Given the description of an element on the screen output the (x, y) to click on. 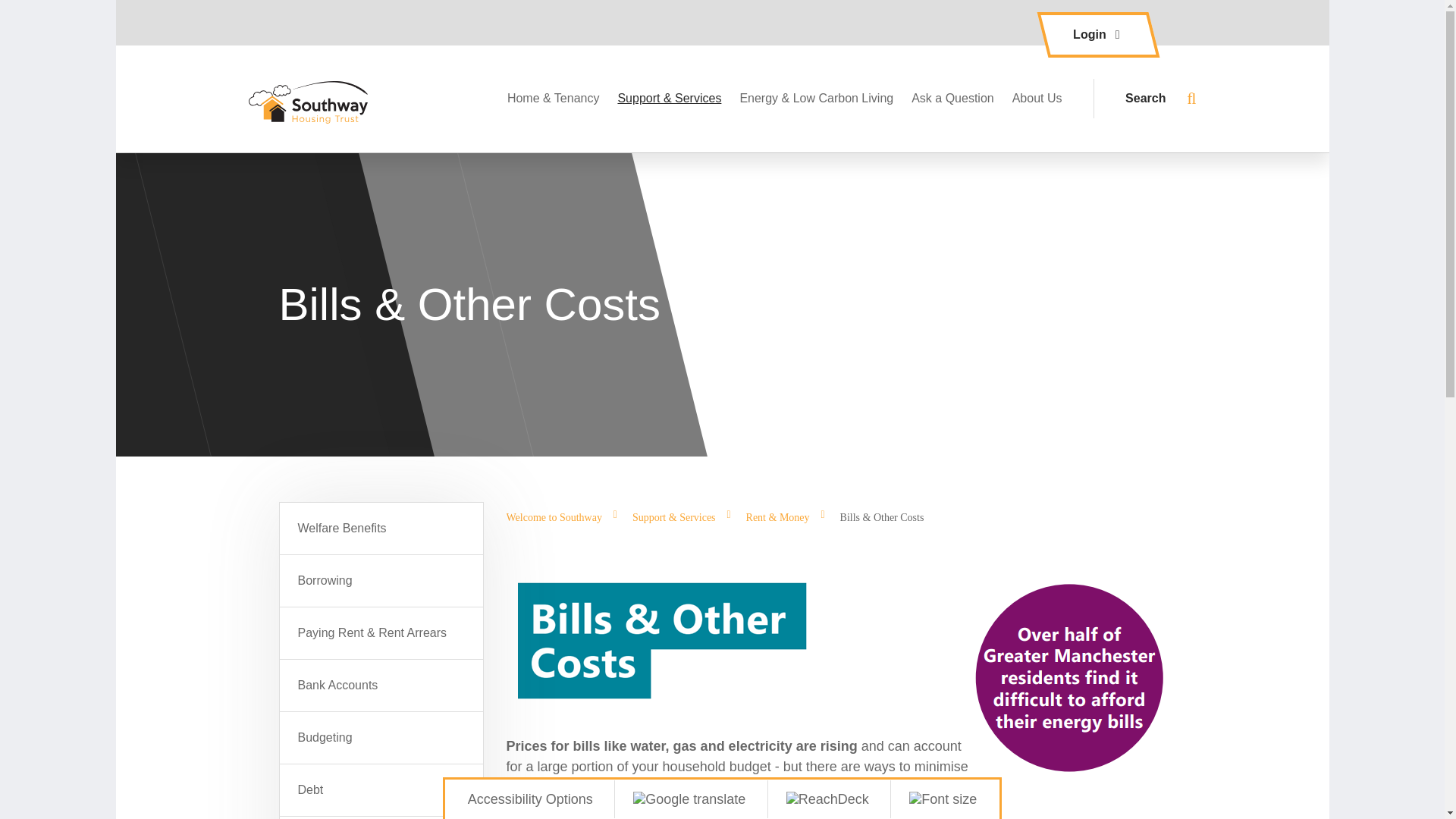
Login (1098, 34)
Home (317, 98)
Ask a Question (952, 98)
